Given the description of an element on the screen output the (x, y) to click on. 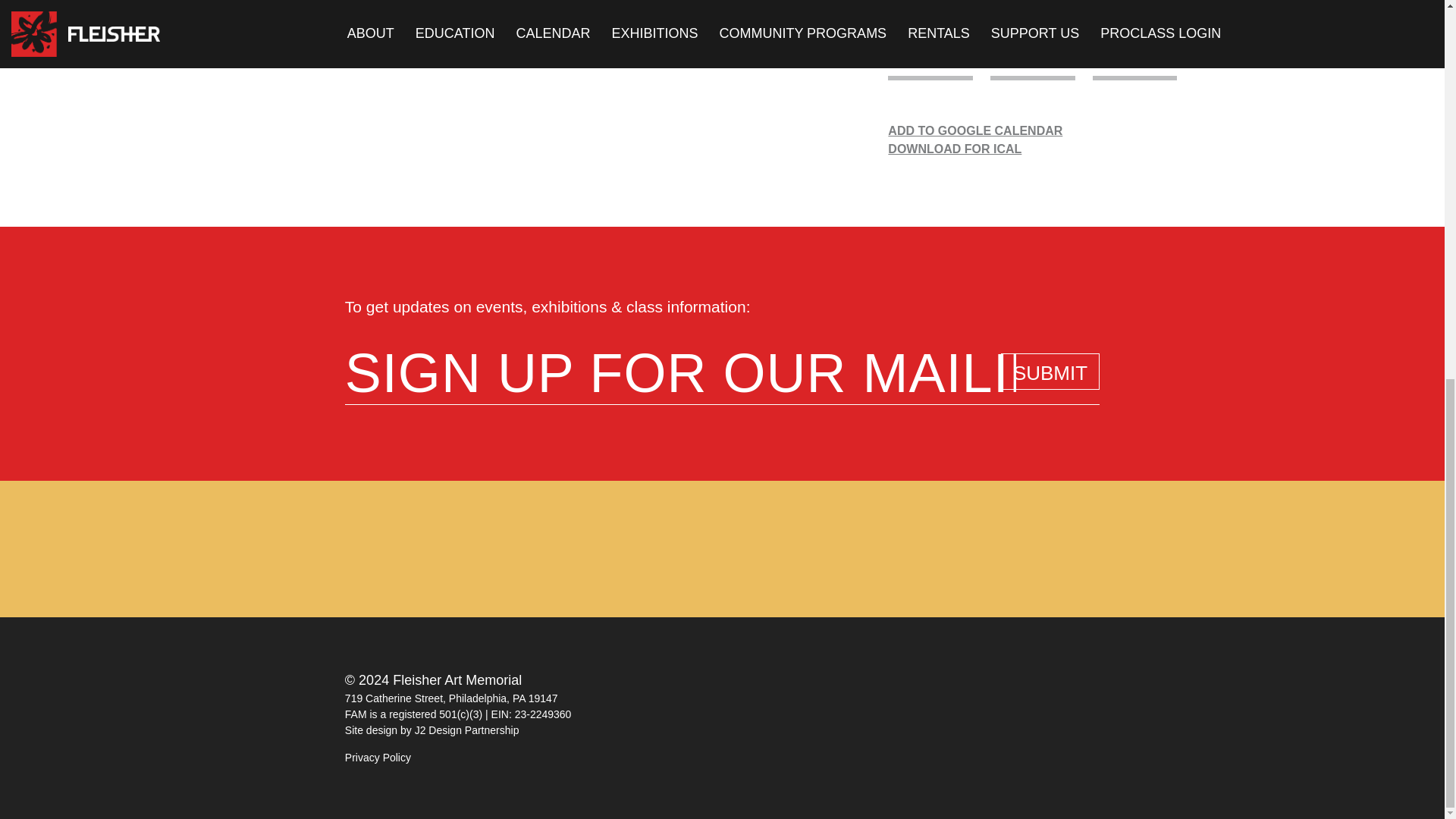
Add to Google Calendar (1032, 131)
Download .ics file (1032, 149)
Submit (1050, 370)
